Given the description of an element on the screen output the (x, y) to click on. 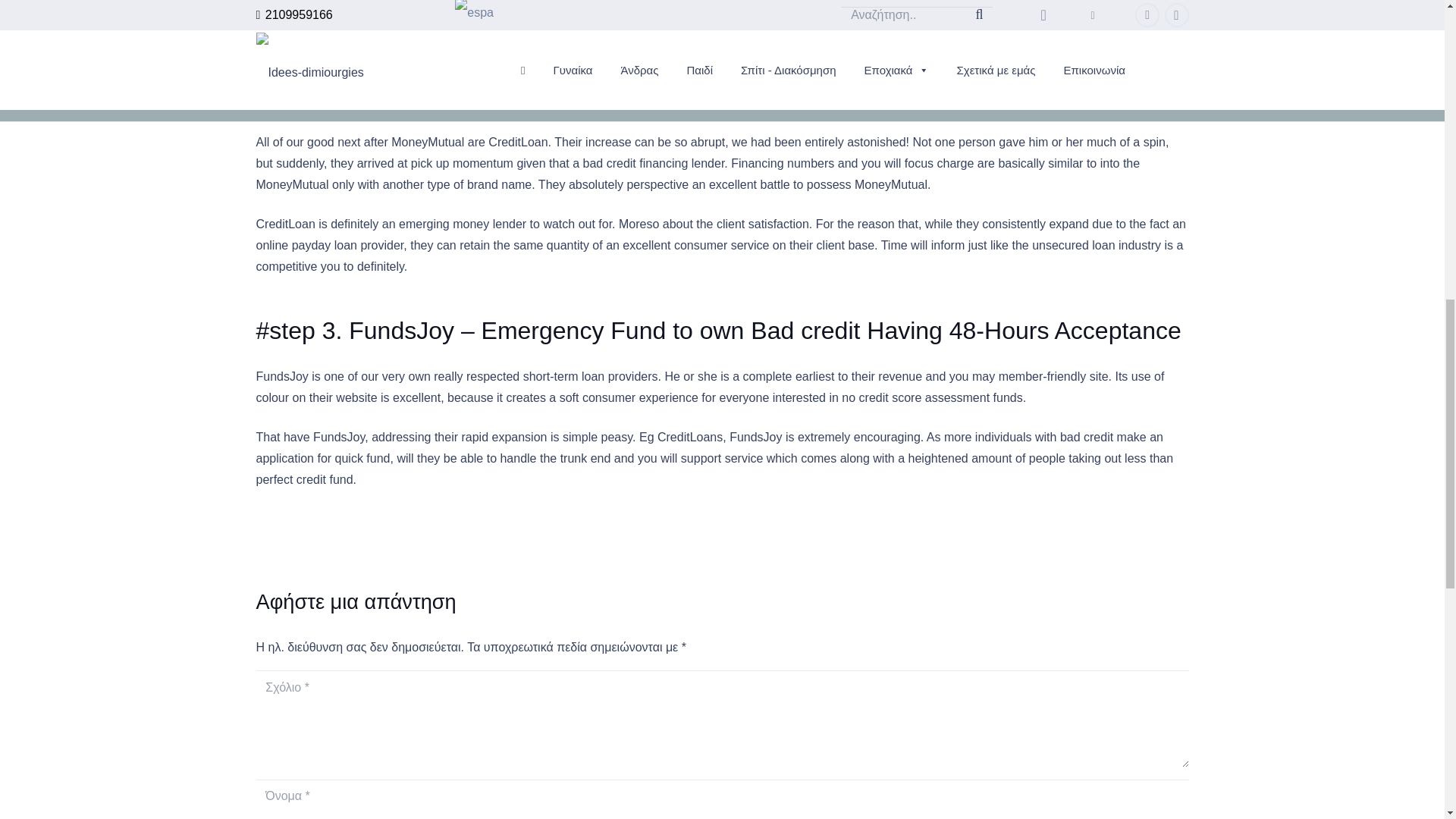
Back to top (1413, 30)
